Given the description of an element on the screen output the (x, y) to click on. 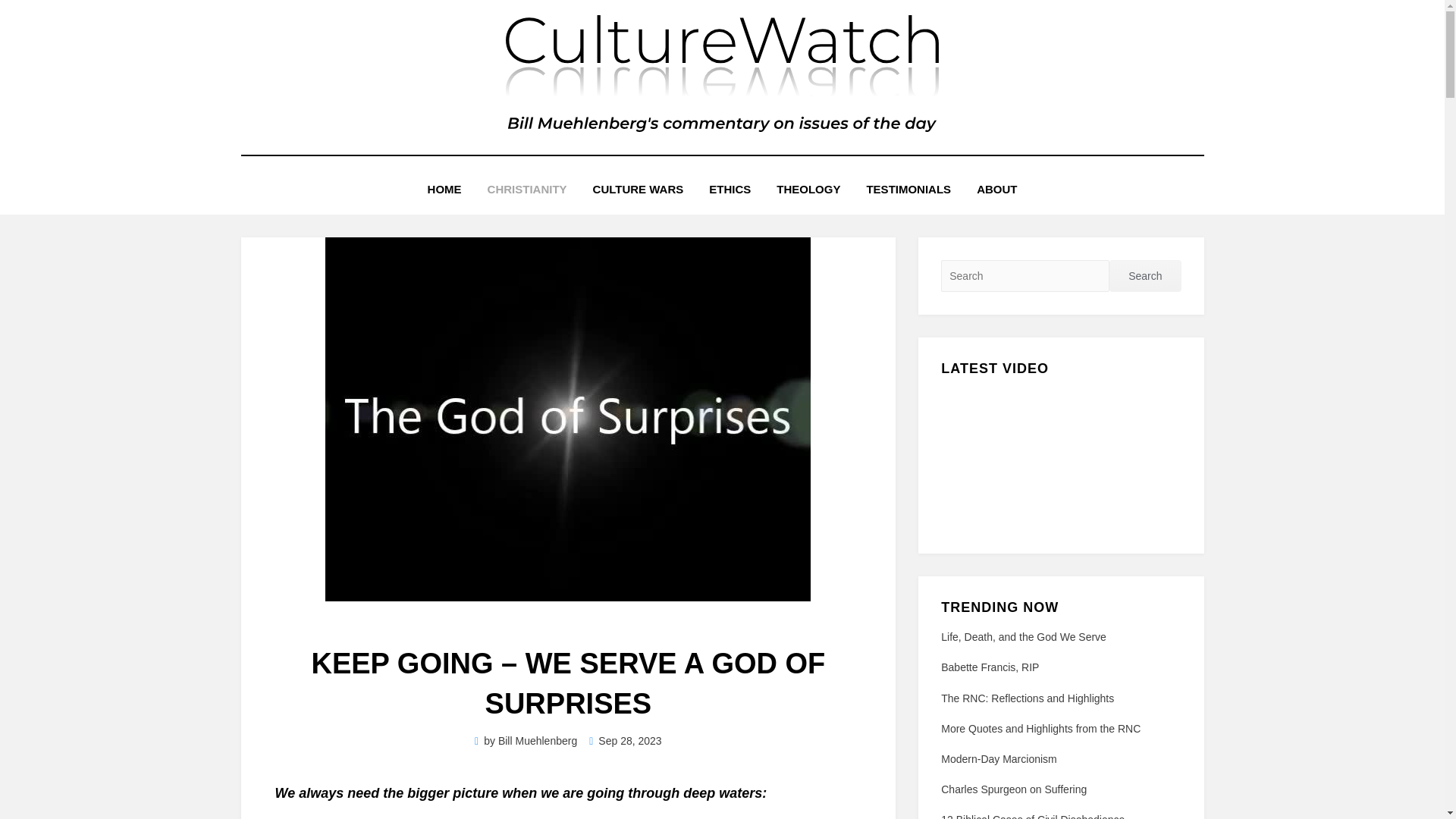
HOME (444, 189)
THEOLOGY (807, 189)
TESTIMONIALS (908, 189)
Bill Muehlenberg (536, 740)
ABOUT (996, 189)
Sep 28, 2023 (625, 740)
CHRISTIANITY (526, 189)
CULTURE WARS (638, 189)
ETHICS (728, 189)
